Given the description of an element on the screen output the (x, y) to click on. 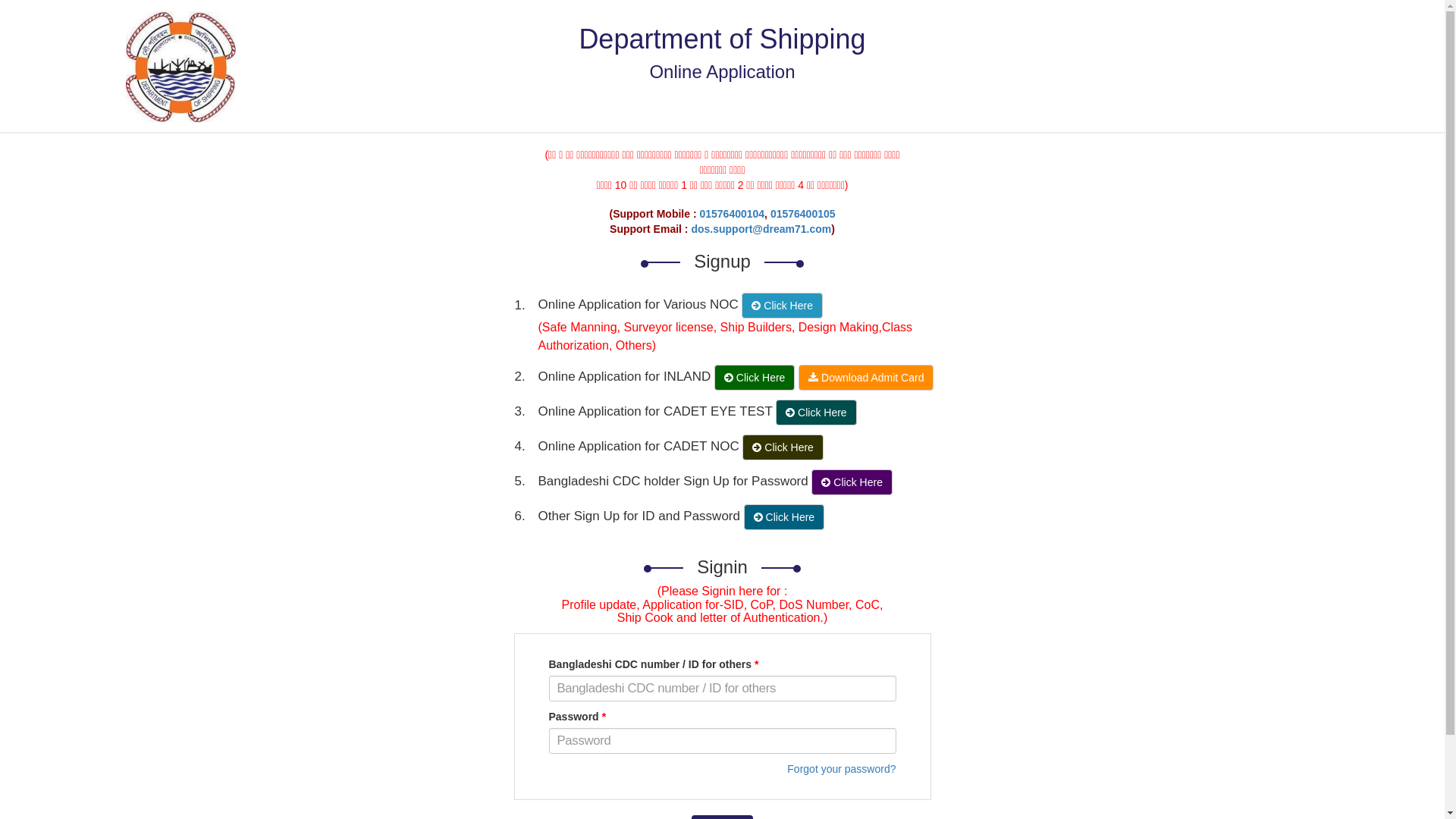
Click Here Element type: text (781, 305)
Click Here Element type: text (783, 517)
01576400104 Element type: text (731, 213)
Download Admit Card Element type: text (865, 377)
Click Here Element type: text (754, 377)
01576400105 Element type: text (802, 213)
dos.support@dream71.com Element type: text (760, 228)
Click Here Element type: text (782, 447)
Forgot your password? Element type: text (841, 768)
Click Here Element type: text (815, 412)
Click Here Element type: text (851, 482)
